Given the description of an element on the screen output the (x, y) to click on. 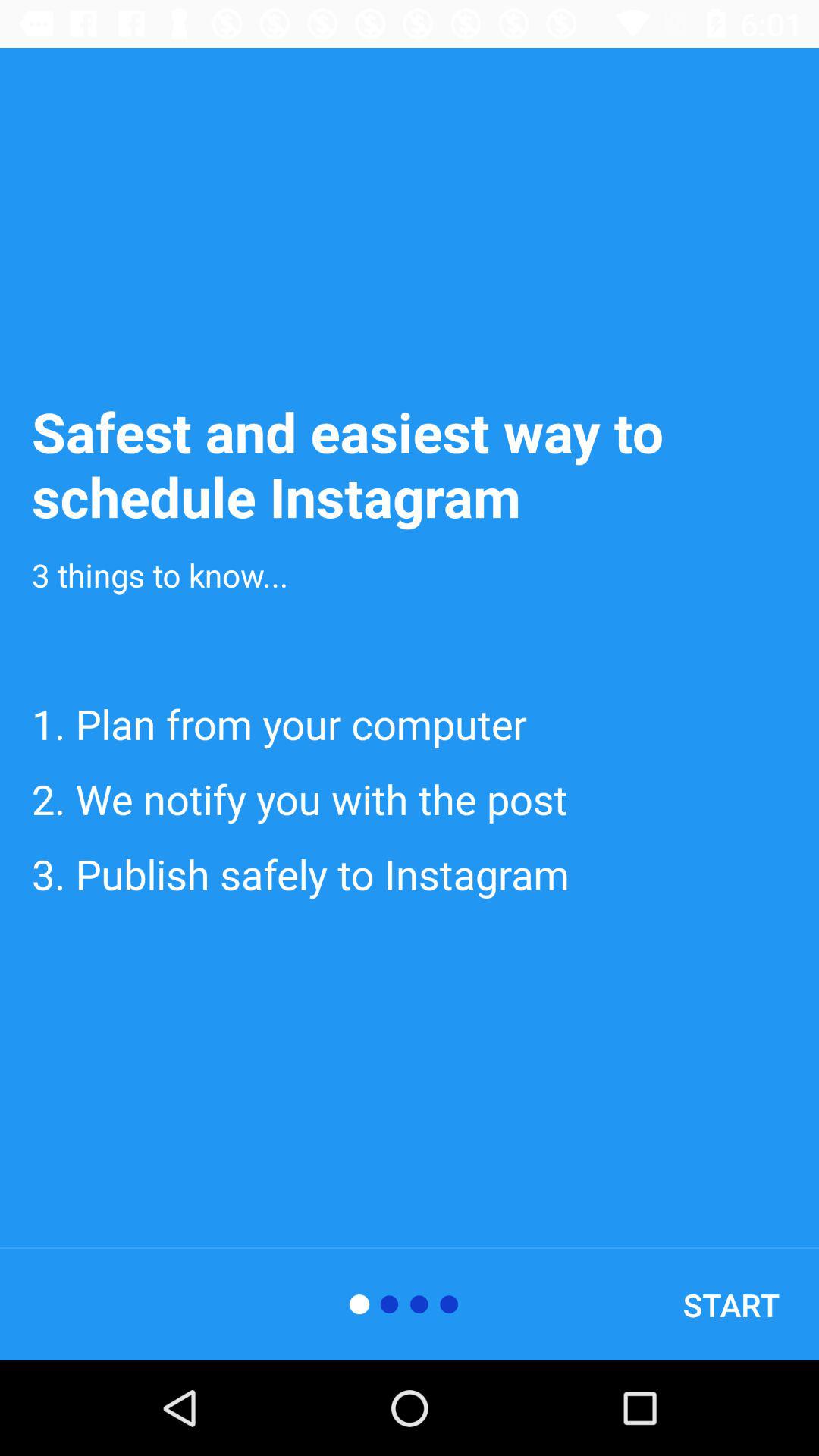
turn on start icon (731, 1304)
